Given the description of an element on the screen output the (x, y) to click on. 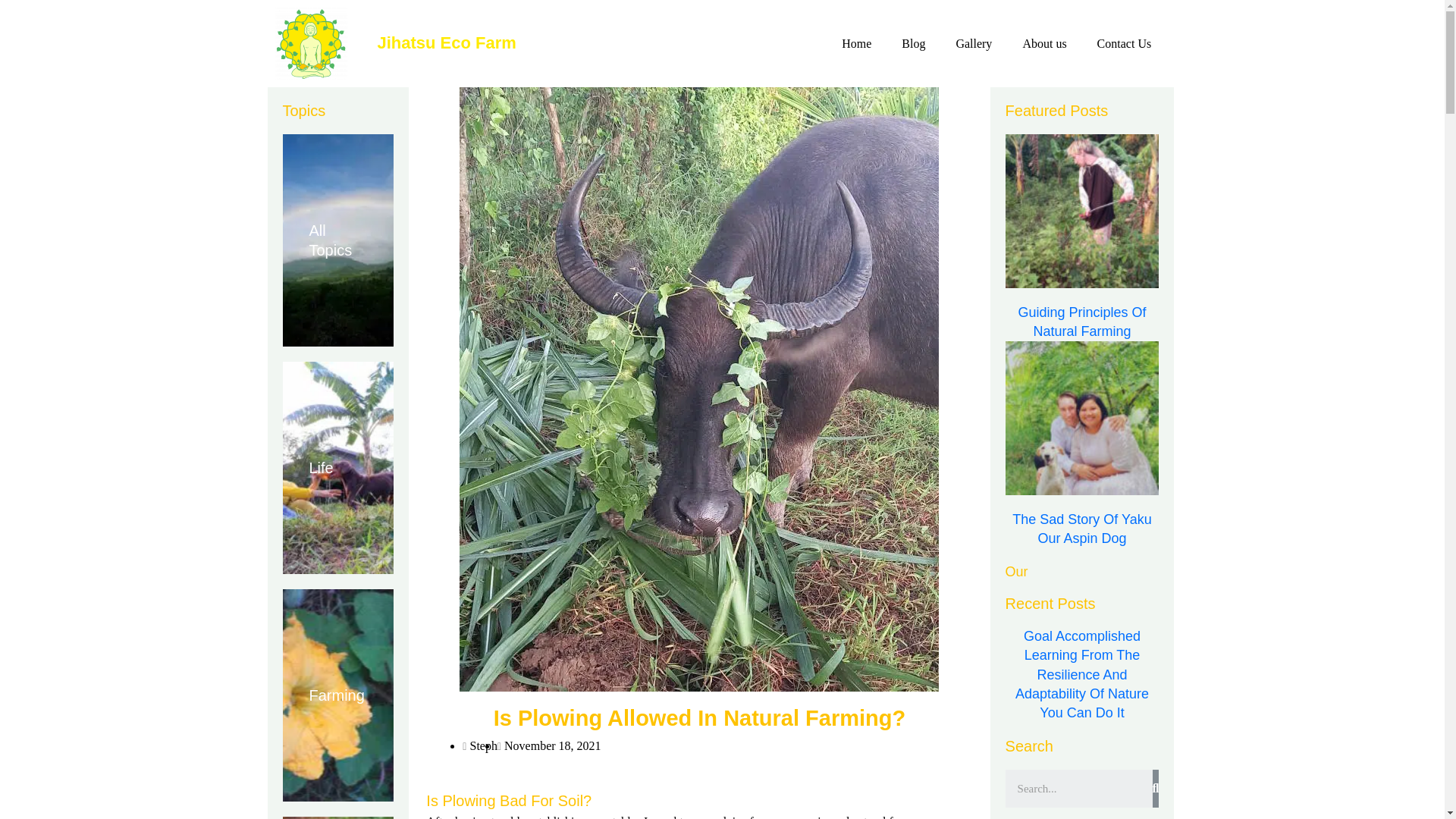
About us (1044, 43)
Search (1079, 788)
Jihatsu Eco Farm (446, 42)
Blog (913, 43)
Contact Us (1124, 43)
Awareness (337, 817)
logo large jihatsu eco farm (310, 43)
Guiding Principles Of Natural Farming (1081, 321)
Gallery (973, 43)
Home (856, 43)
